Given the description of an element on the screen output the (x, y) to click on. 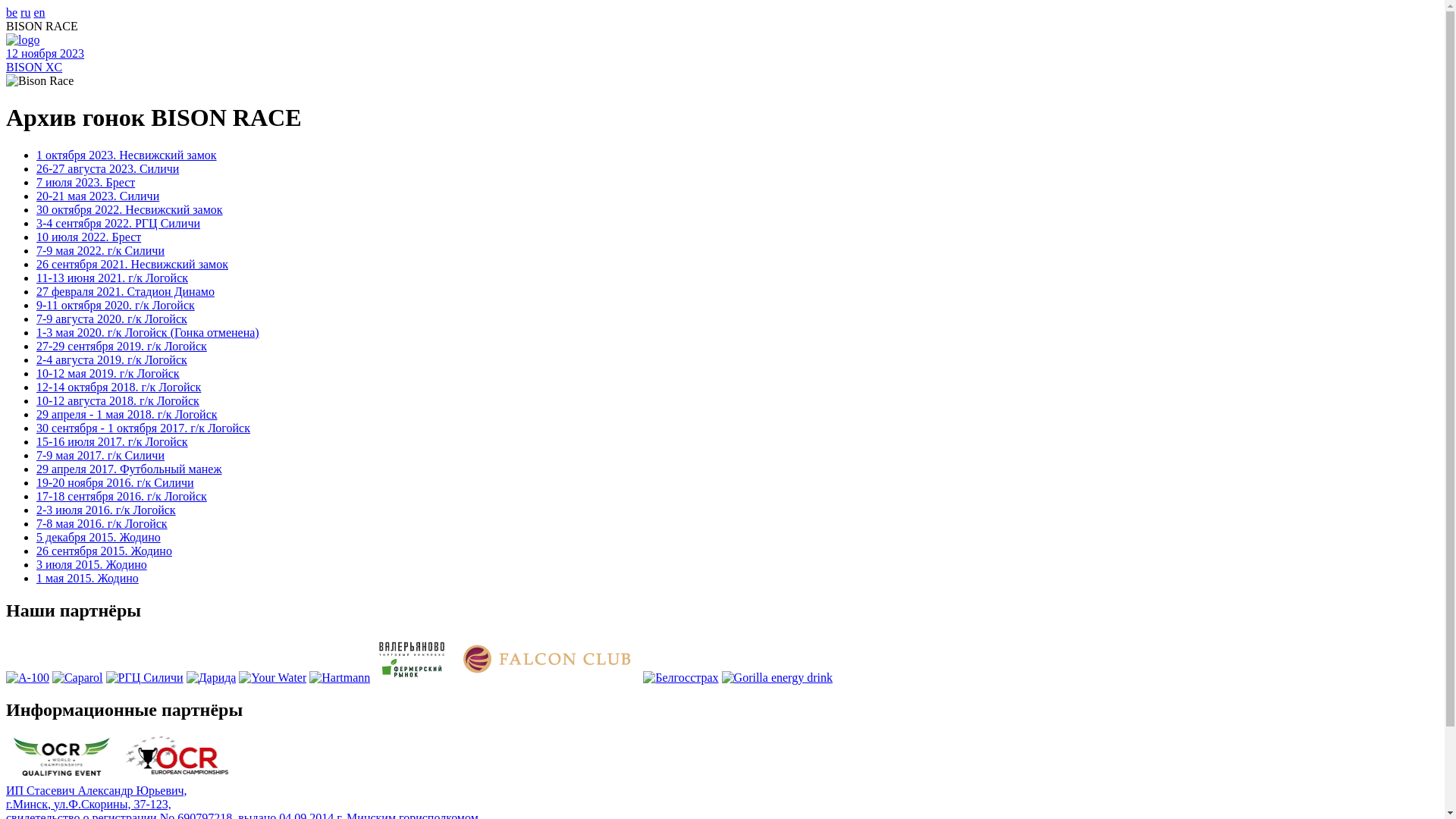
en Element type: text (38, 12)
Falcon Club Element type: hover (546, 677)
OCR European Championships Element type: hover (178, 776)
ru Element type: text (25, 12)
A-100 Element type: hover (27, 677)
be Element type: text (11, 12)
OCR World Championships Element type: hover (62, 776)
Gorilla energy drink Element type: hover (776, 677)
Hartmann Element type: hover (339, 677)
